Given the description of an element on the screen output the (x, y) to click on. 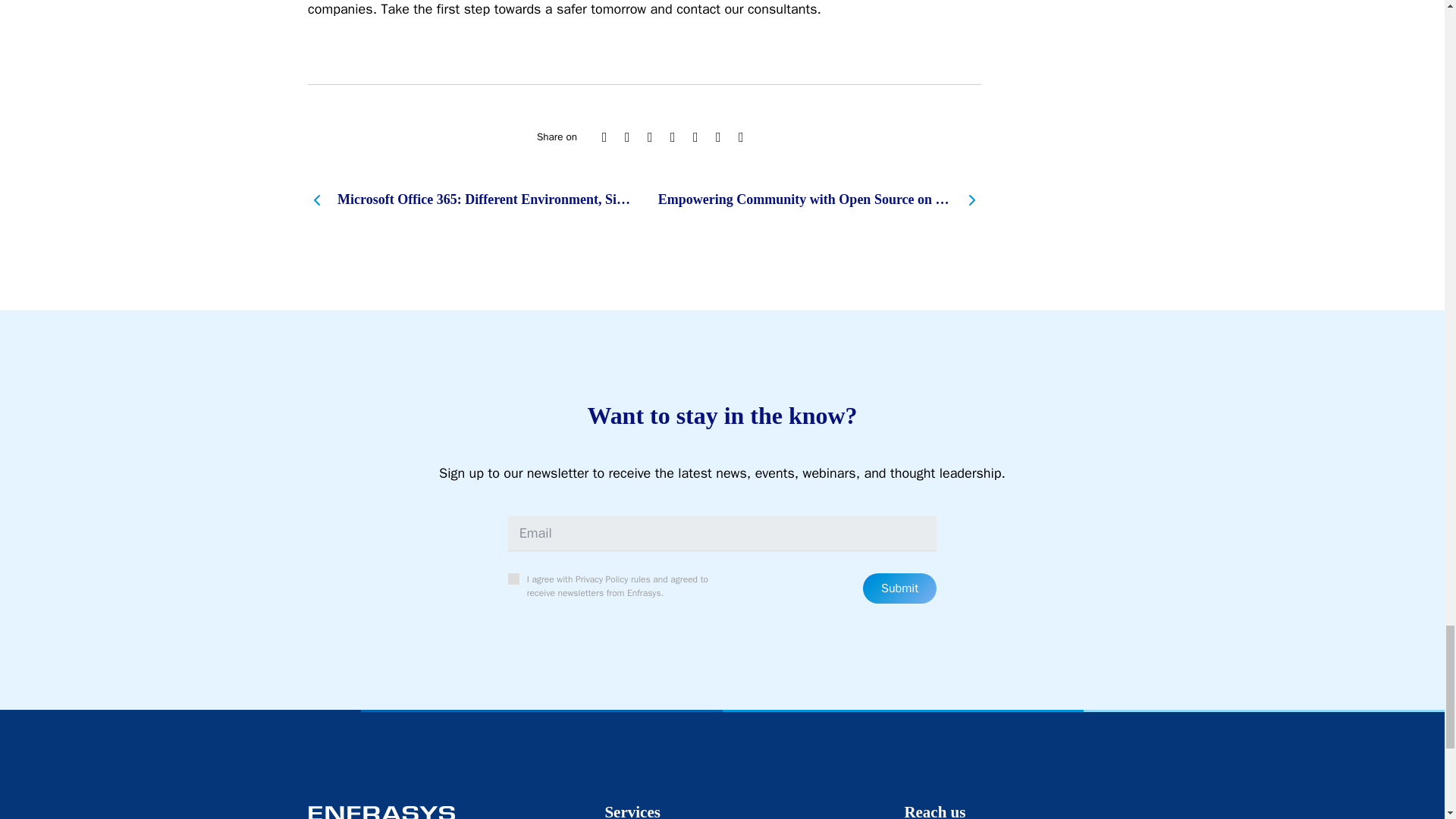
on (513, 578)
